Given the description of an element on the screen output the (x, y) to click on. 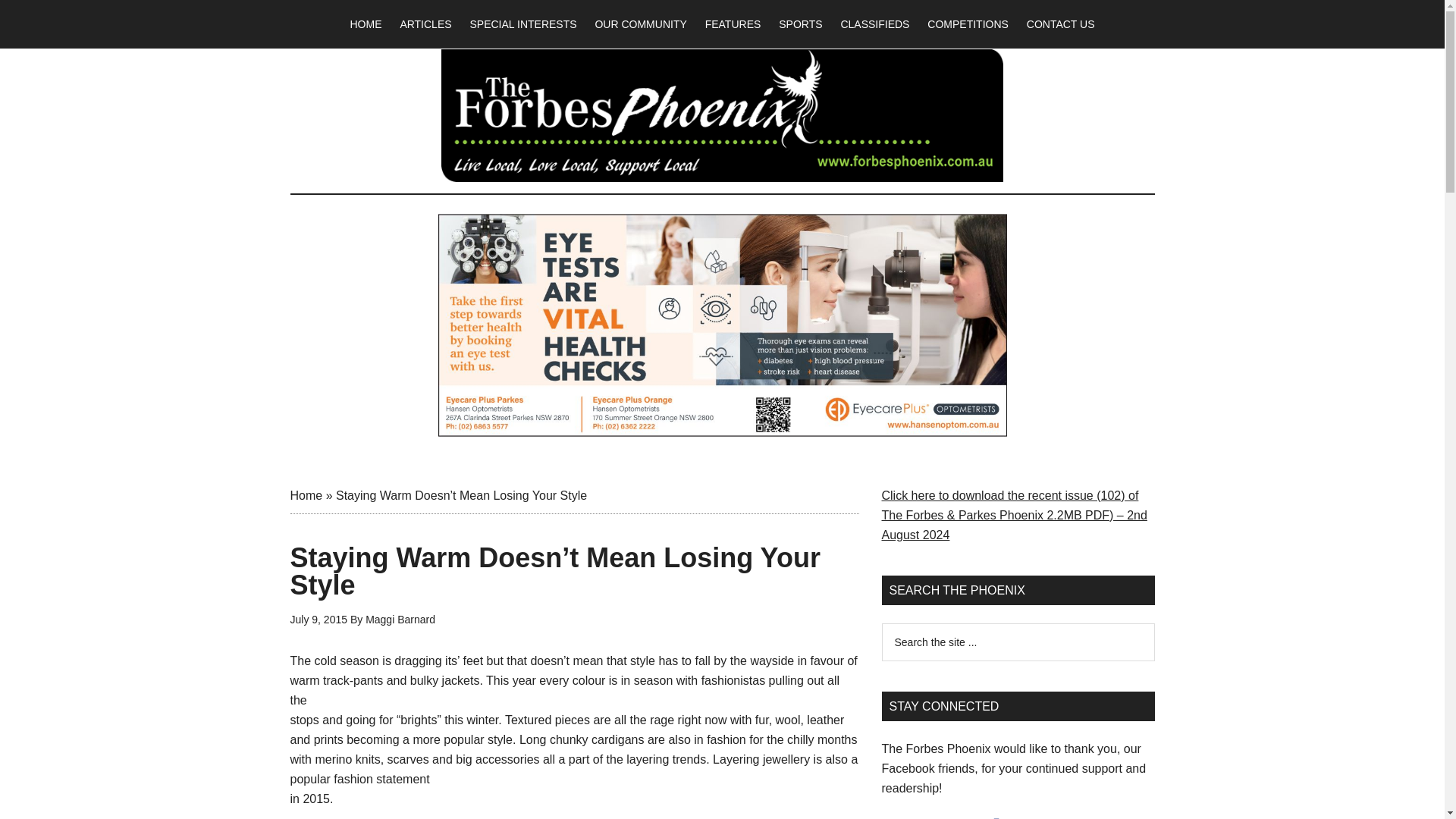
OUR COMMUNITY (640, 24)
CLASSIFIEDS (874, 24)
FEATURES (732, 24)
CONTACT US (1060, 24)
SPORTS (800, 24)
ARTICLES (424, 24)
COMPETITIONS (968, 24)
HOME (365, 24)
SPECIAL INTERESTS (522, 24)
